Given the description of an element on the screen output the (x, y) to click on. 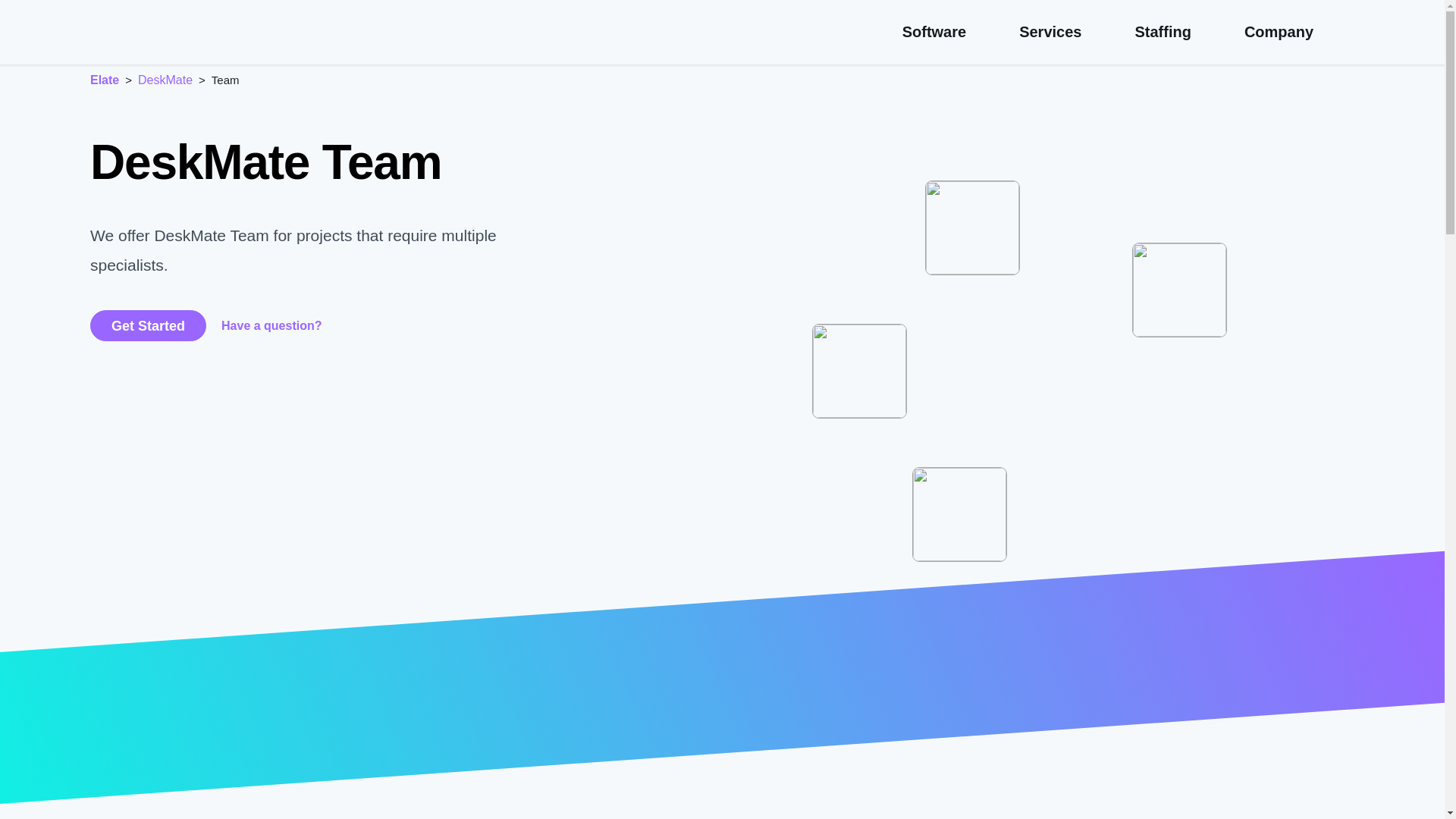
DeskMate (165, 79)
Have a question? (271, 325)
Get Started (148, 325)
Elate (104, 79)
